Given the description of an element on the screen output the (x, y) to click on. 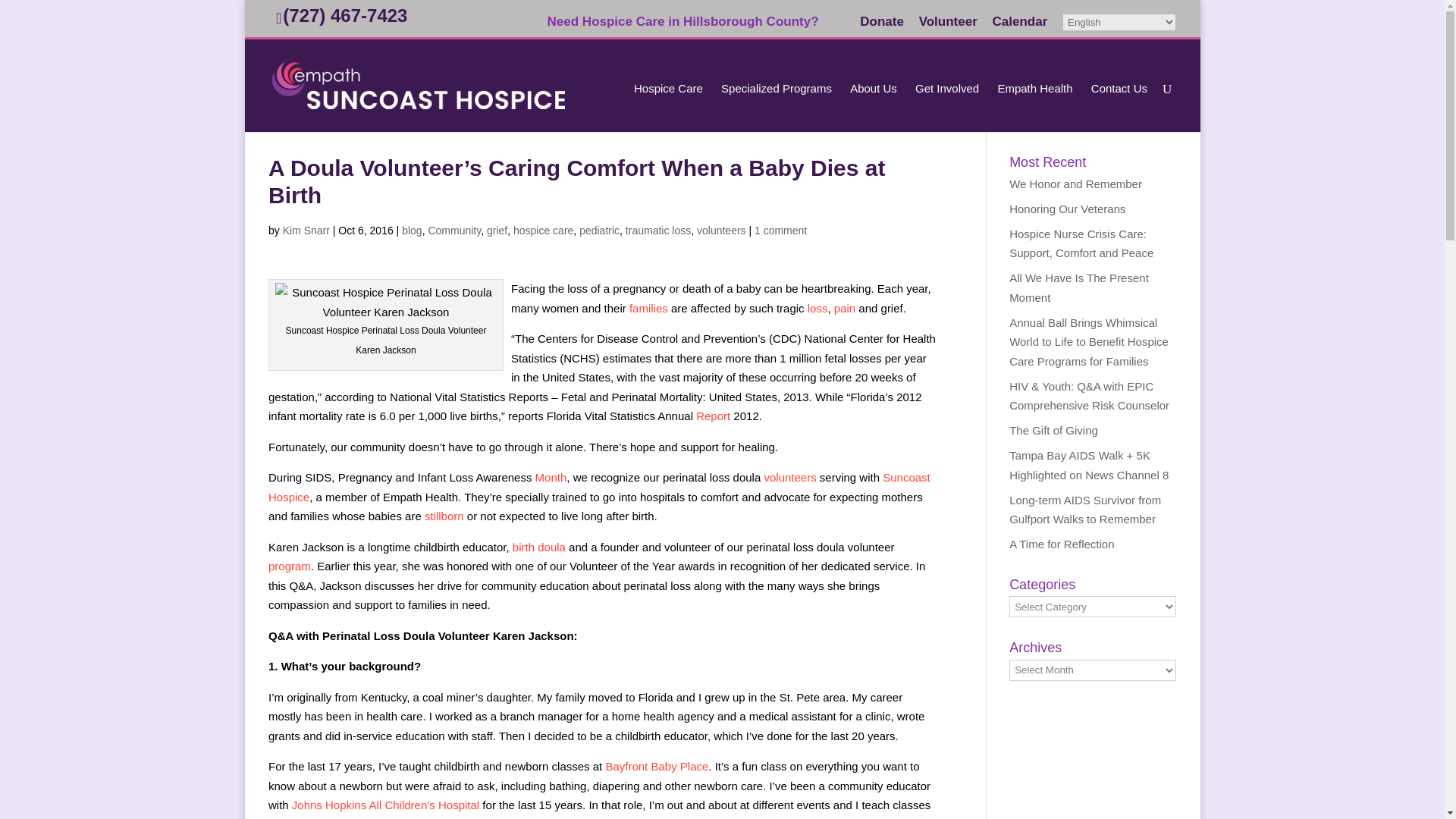
Hospice Care (675, 106)
Need Hospice Care in Hillsborough County? (696, 25)
Volunteer (947, 25)
Empath Health (1042, 106)
Specialized Programs (783, 106)
Calendar (1020, 25)
Donate (882, 25)
Posts by Kim Snarr (306, 230)
About Us (881, 106)
Get Involved (954, 106)
